Given the description of an element on the screen output the (x, y) to click on. 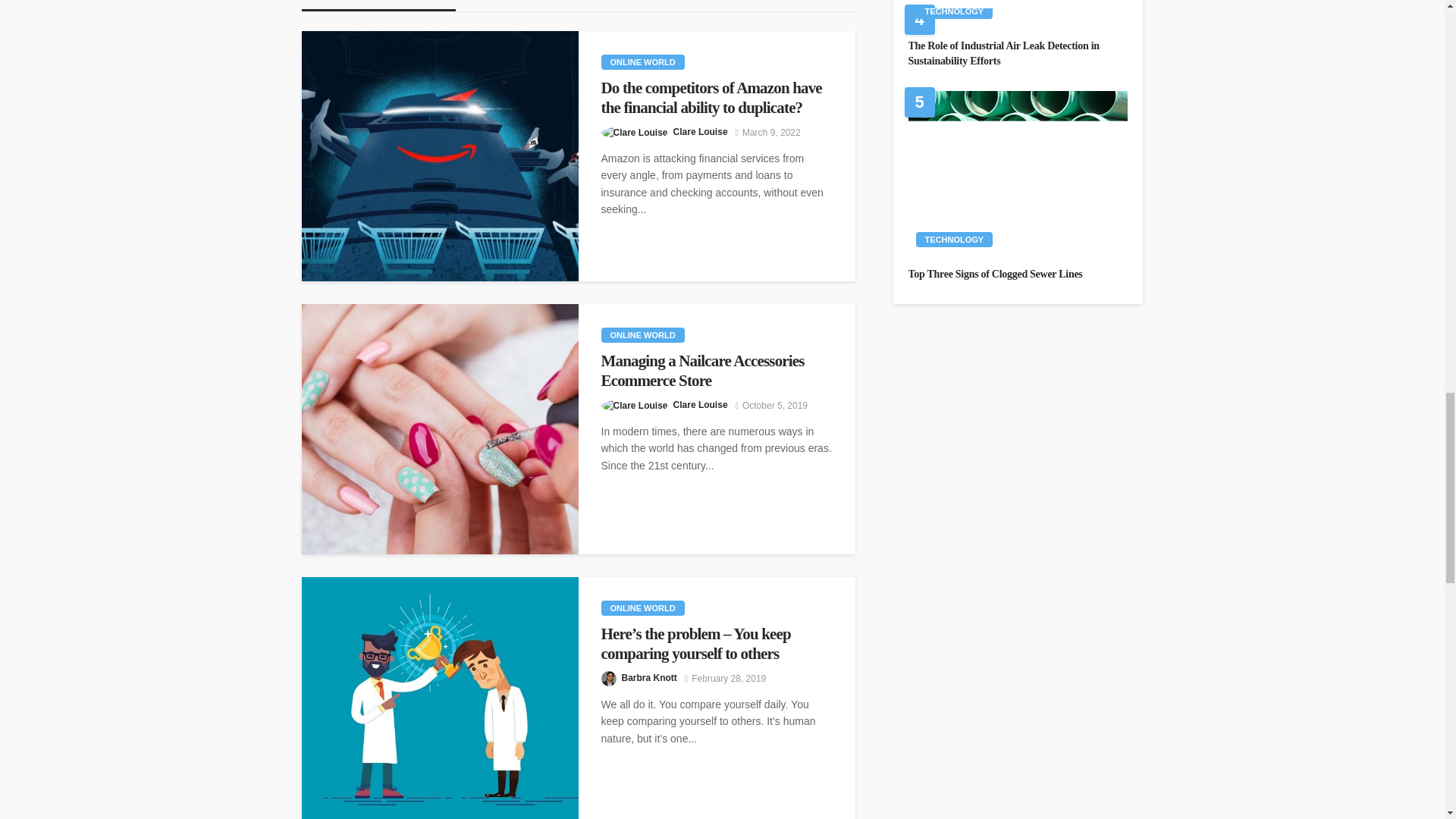
Managing a Nailcare Accessories Ecommerce Store (715, 371)
Online World (641, 61)
Managing a Nailcare Accessories Ecommerce Store (715, 371)
Online World (641, 335)
Managing a Nailcare Accessories Ecommerce Store (439, 428)
ONLINE WORLD (641, 335)
ONLINE WORLD (641, 61)
Clare Louise (700, 404)
